Given the description of an element on the screen output the (x, y) to click on. 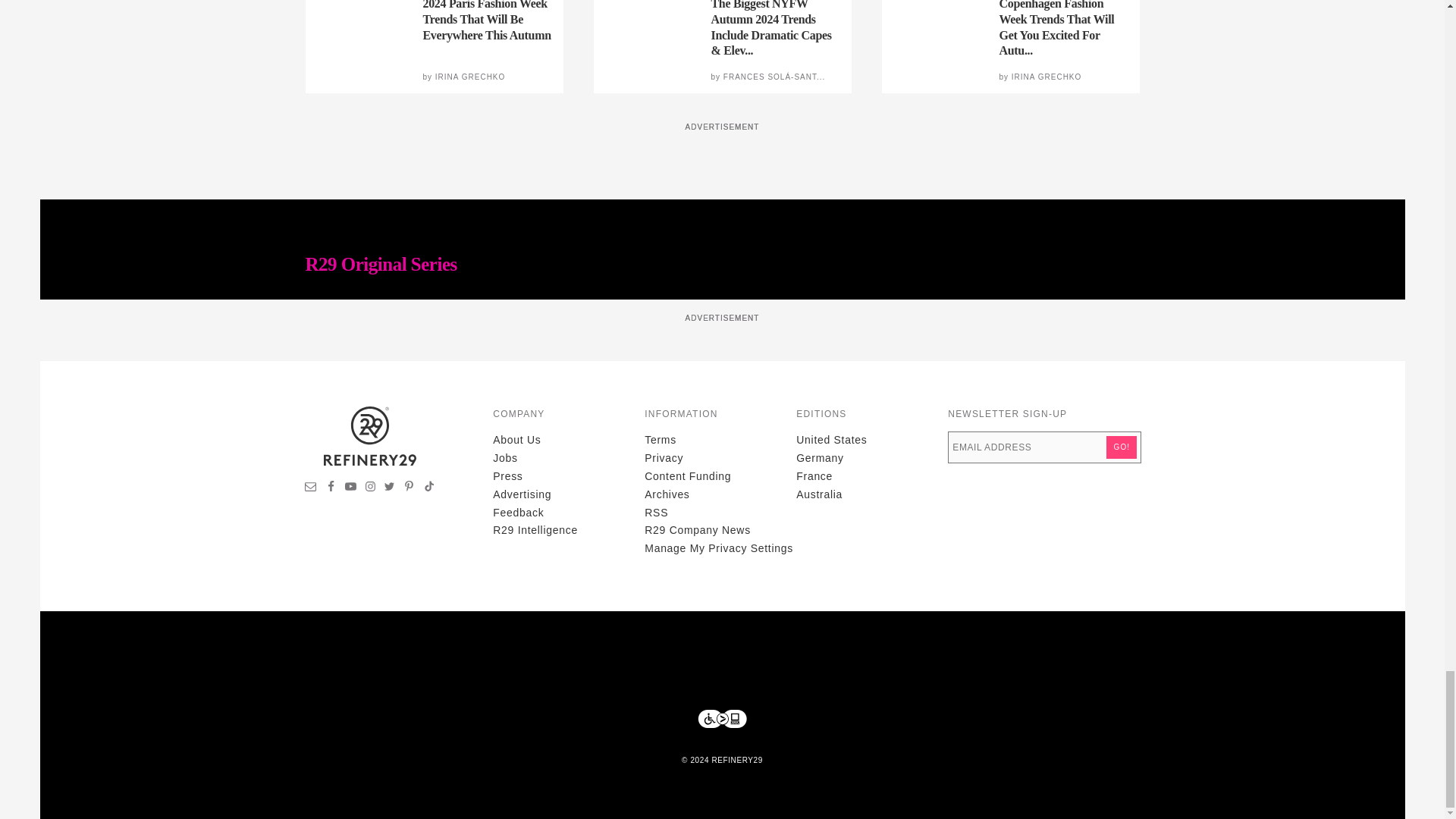
Visit Refinery29 on TikTok (428, 488)
Visit Refinery29 on YouTube (350, 488)
Sign up for newsletters (310, 488)
